Given the description of an element on the screen output the (x, y) to click on. 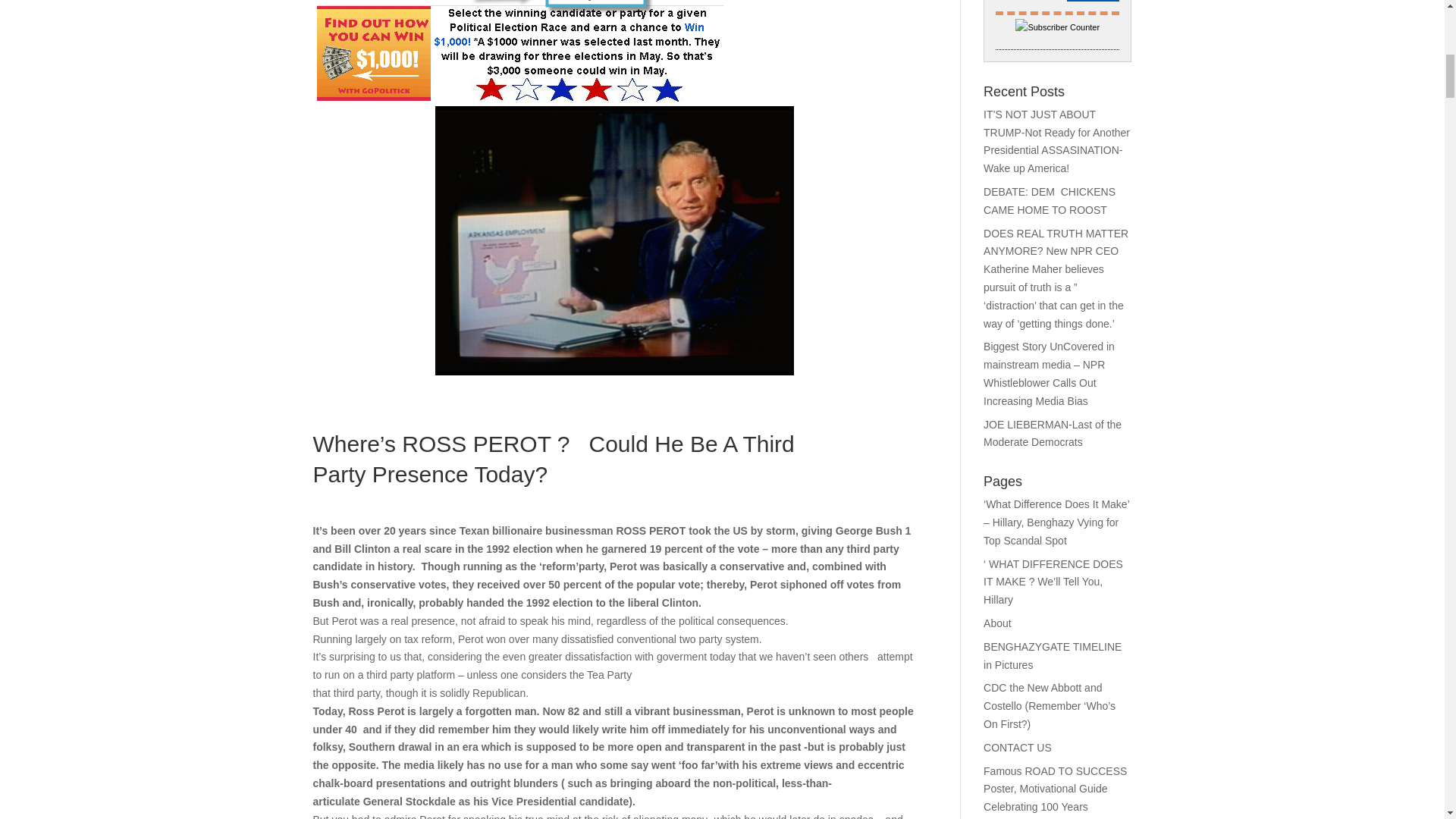
Submit (1093, 0)
Submit (1093, 0)
DEBATE: DEM  CHICKENS CAME HOME TO ROOST (1049, 200)
